Given the description of an element on the screen output the (x, y) to click on. 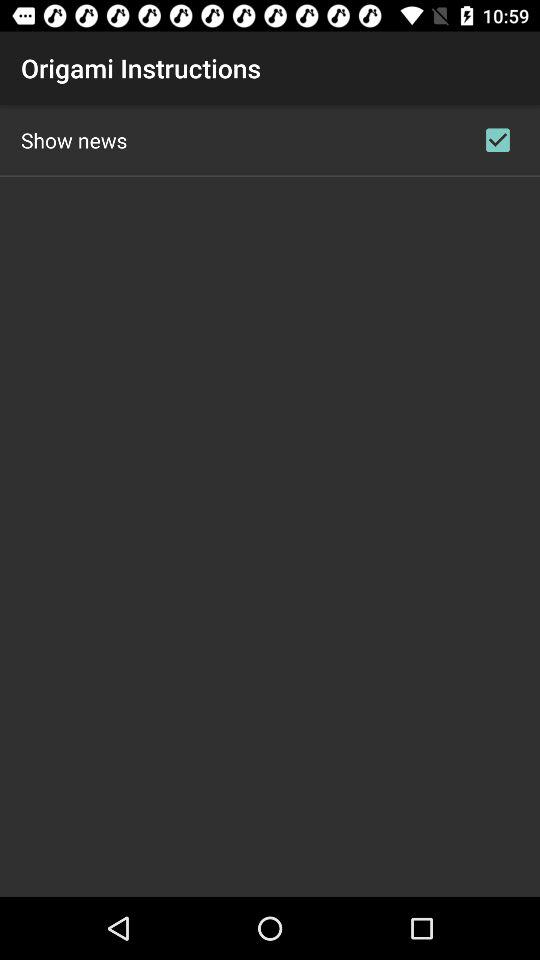
click the show news (74, 139)
